Given the description of an element on the screen output the (x, y) to click on. 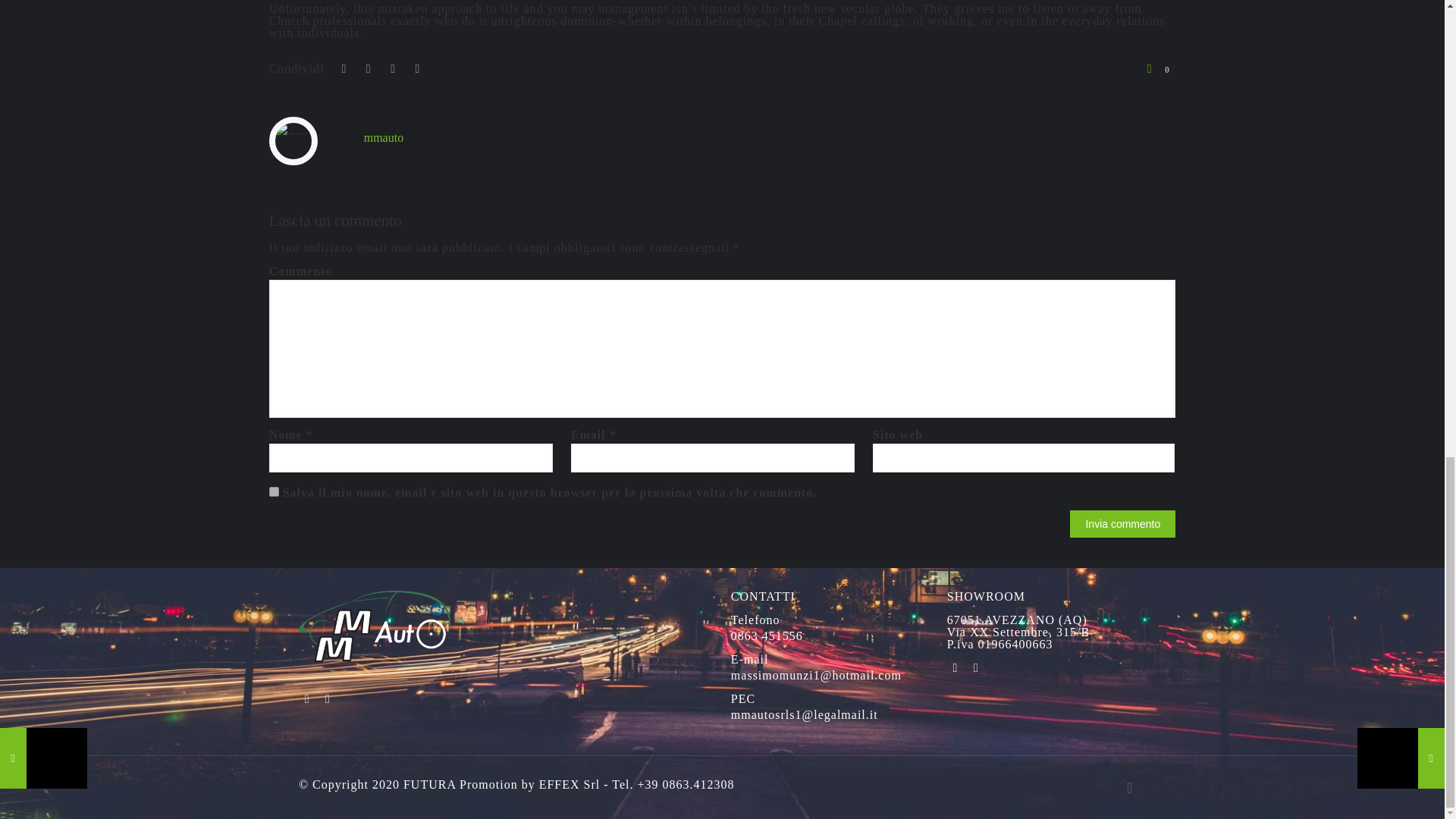
Invia commento (1122, 523)
0 (1157, 69)
yes (274, 491)
mmauto (383, 137)
Invia commento (1122, 523)
